Given the description of an element on the screen output the (x, y) to click on. 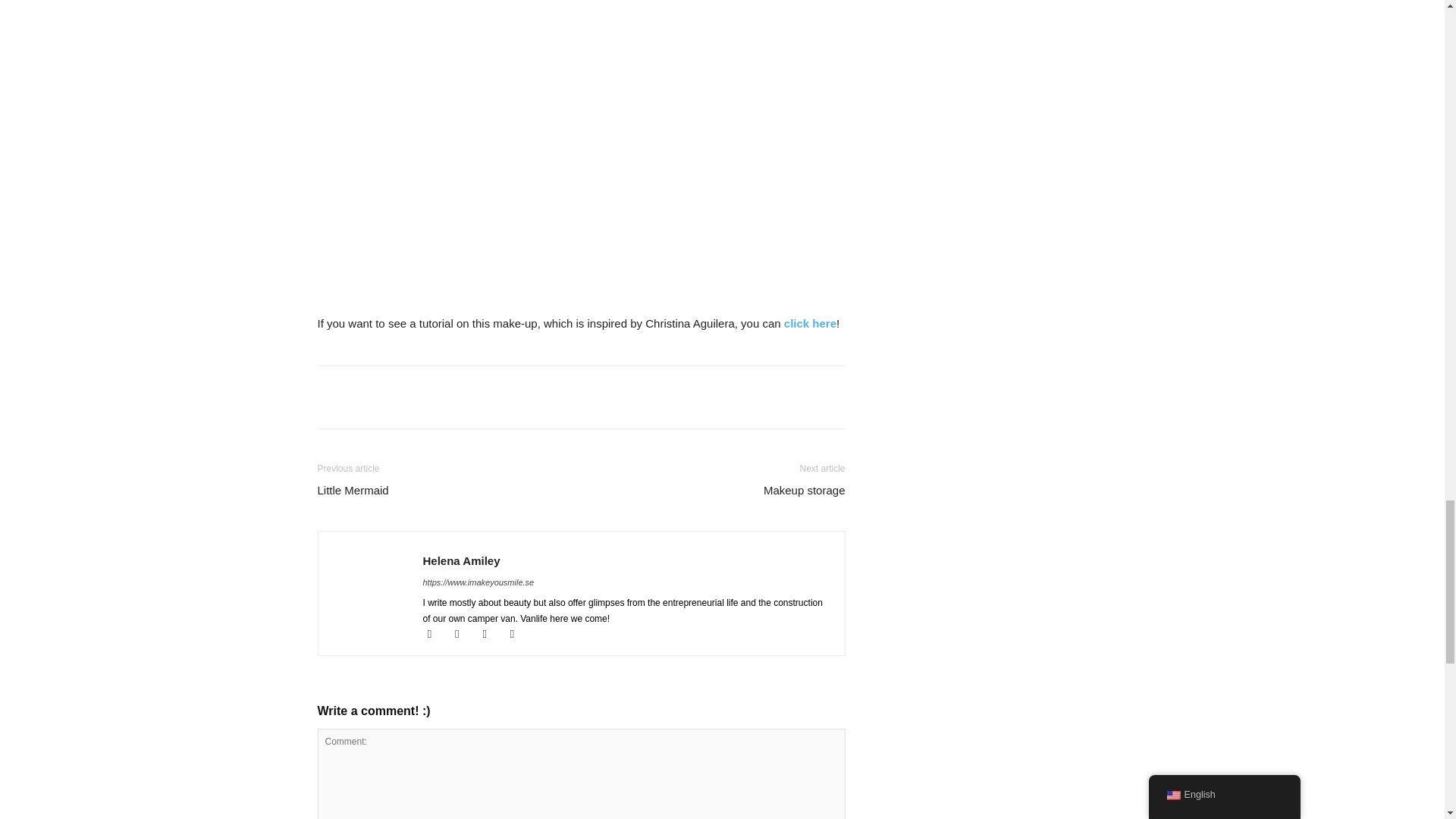
 click here (807, 323)
Makeup storage (803, 489)
Helena Amiley (461, 560)
Facebook (436, 634)
Little Mermaid (352, 489)
